Given the description of an element on the screen output the (x, y) to click on. 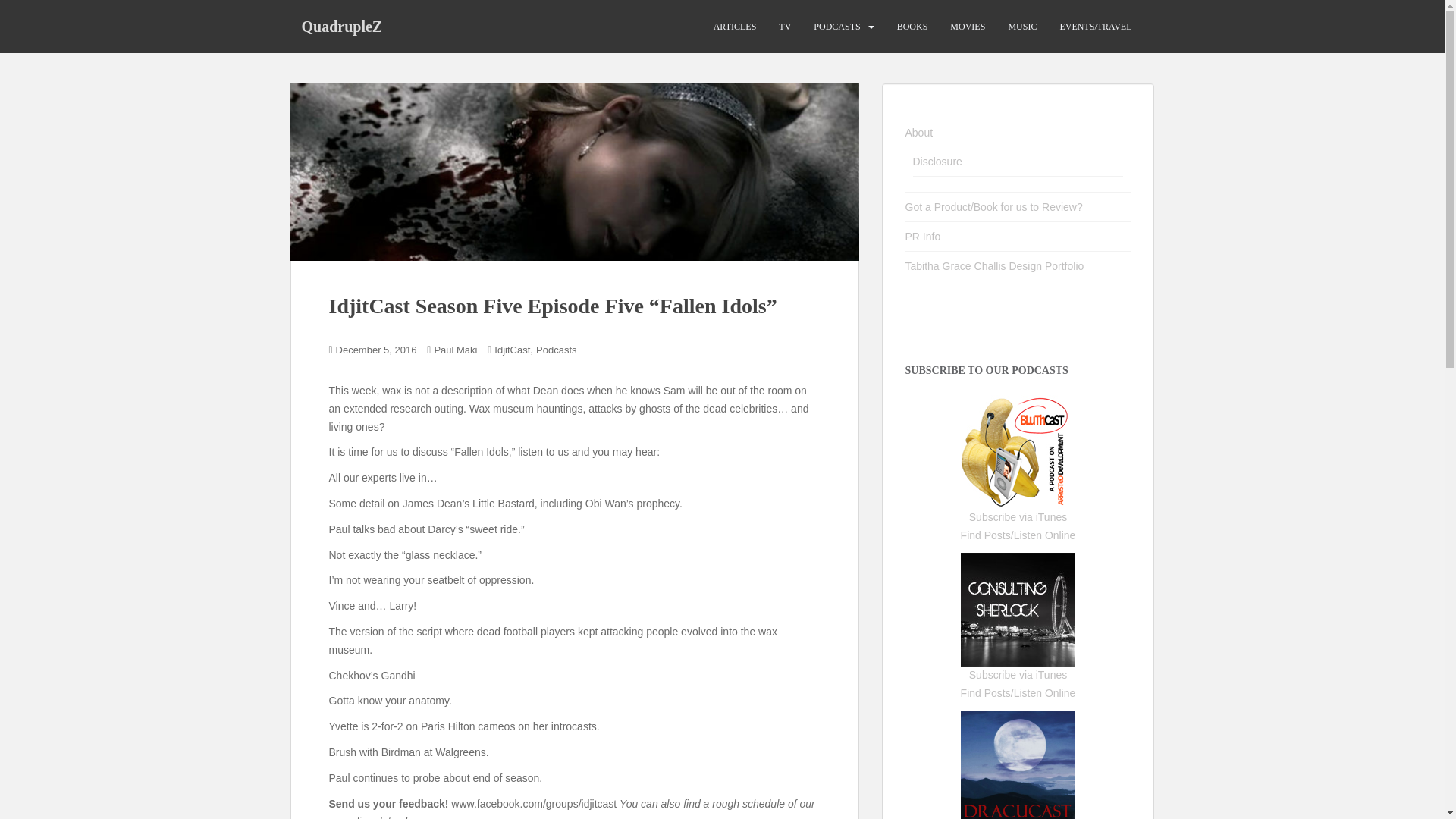
MOVIES (967, 26)
Disclosure (937, 161)
About (919, 132)
PODCASTS (836, 26)
QuadrupleZ (341, 26)
BOOKS (912, 26)
Paul Maki (455, 349)
December 5, 2016 (376, 349)
Tabitha Grace Challis Design Portfolio (994, 265)
IdjitCast (512, 349)
